Given the description of an element on the screen output the (x, y) to click on. 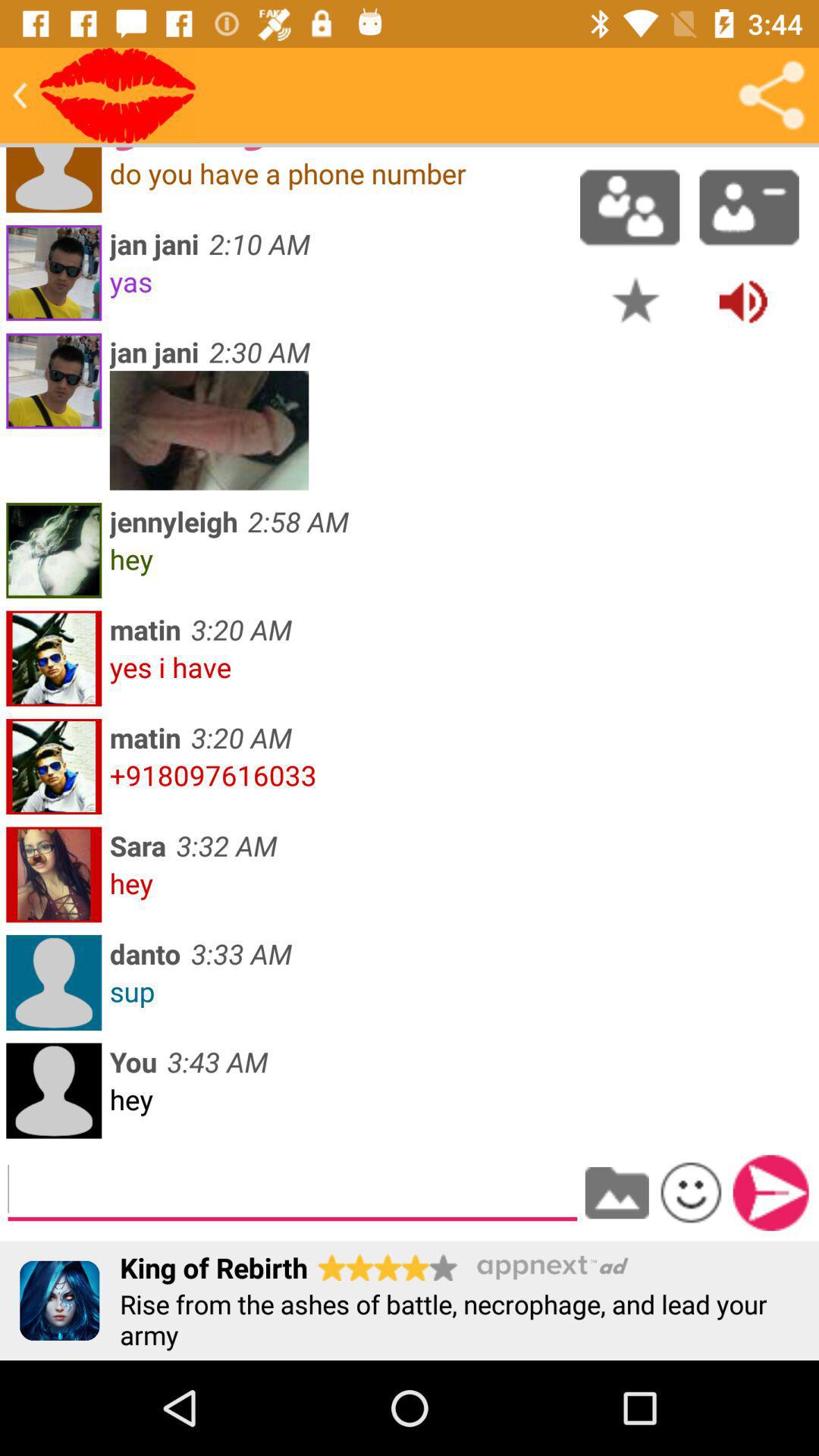
submit entry (770, 1192)
